Given the description of an element on the screen output the (x, y) to click on. 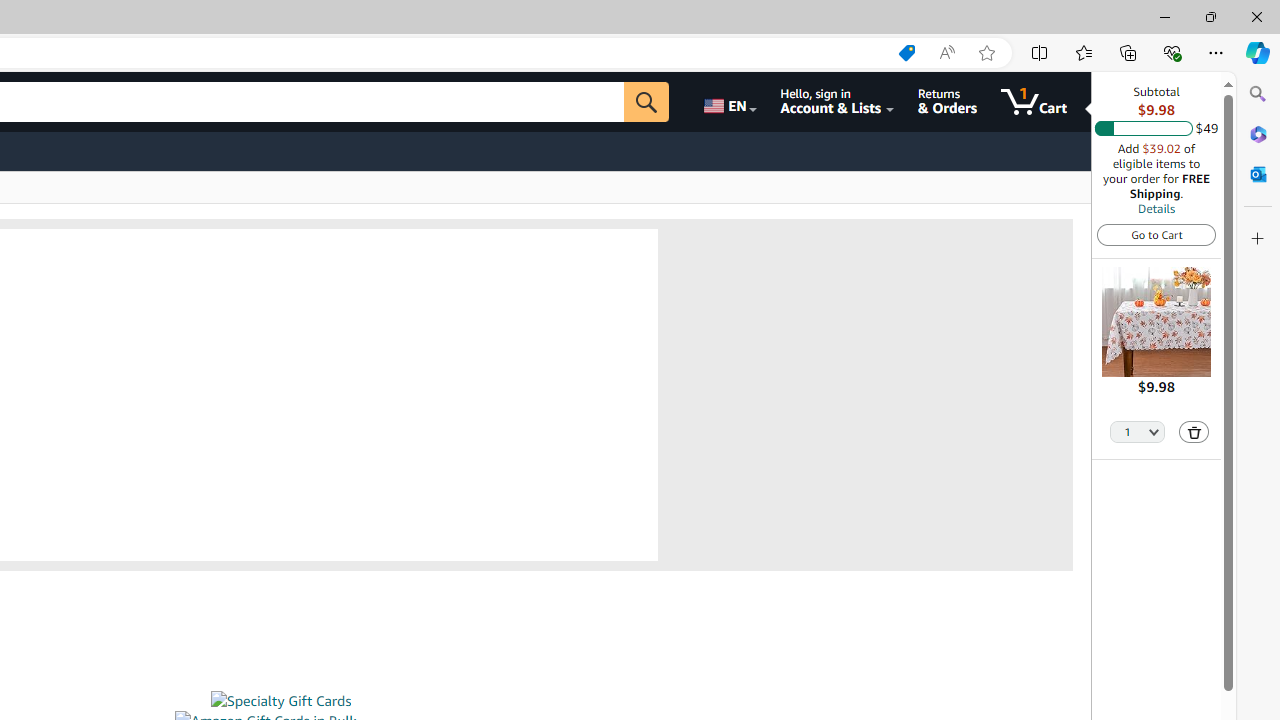
Specialty Gift Cards (280, 701)
Delete (1193, 431)
1 item in cart (1034, 101)
Hello, sign in Account & Lists (836, 101)
Go to Cart (1156, 234)
Details (1156, 208)
Go (646, 101)
Returns & Orders (946, 101)
Choose a language for shopping. (728, 101)
